Given the description of an element on the screen output the (x, y) to click on. 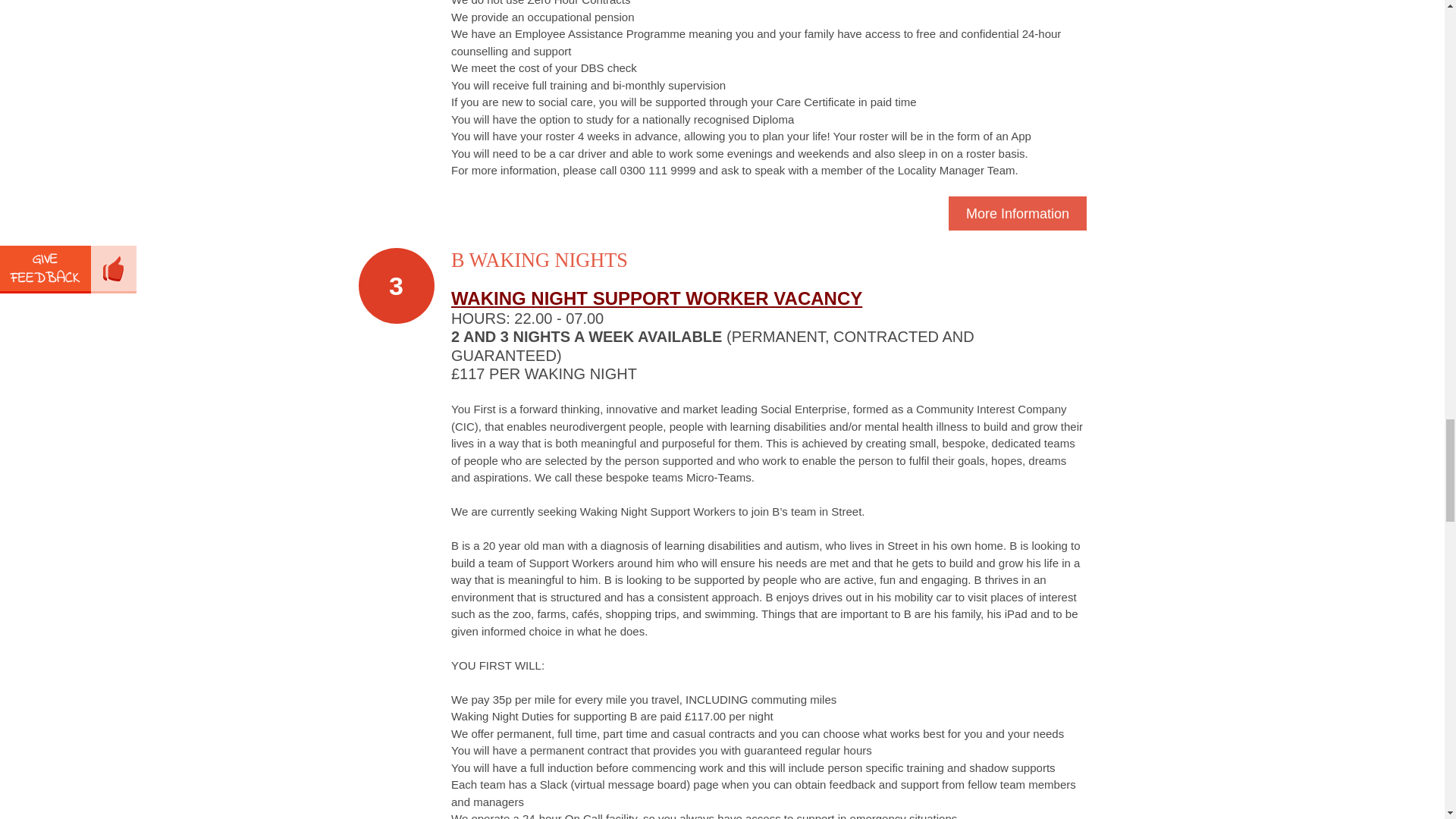
More Information (1017, 213)
